Given the description of an element on the screen output the (x, y) to click on. 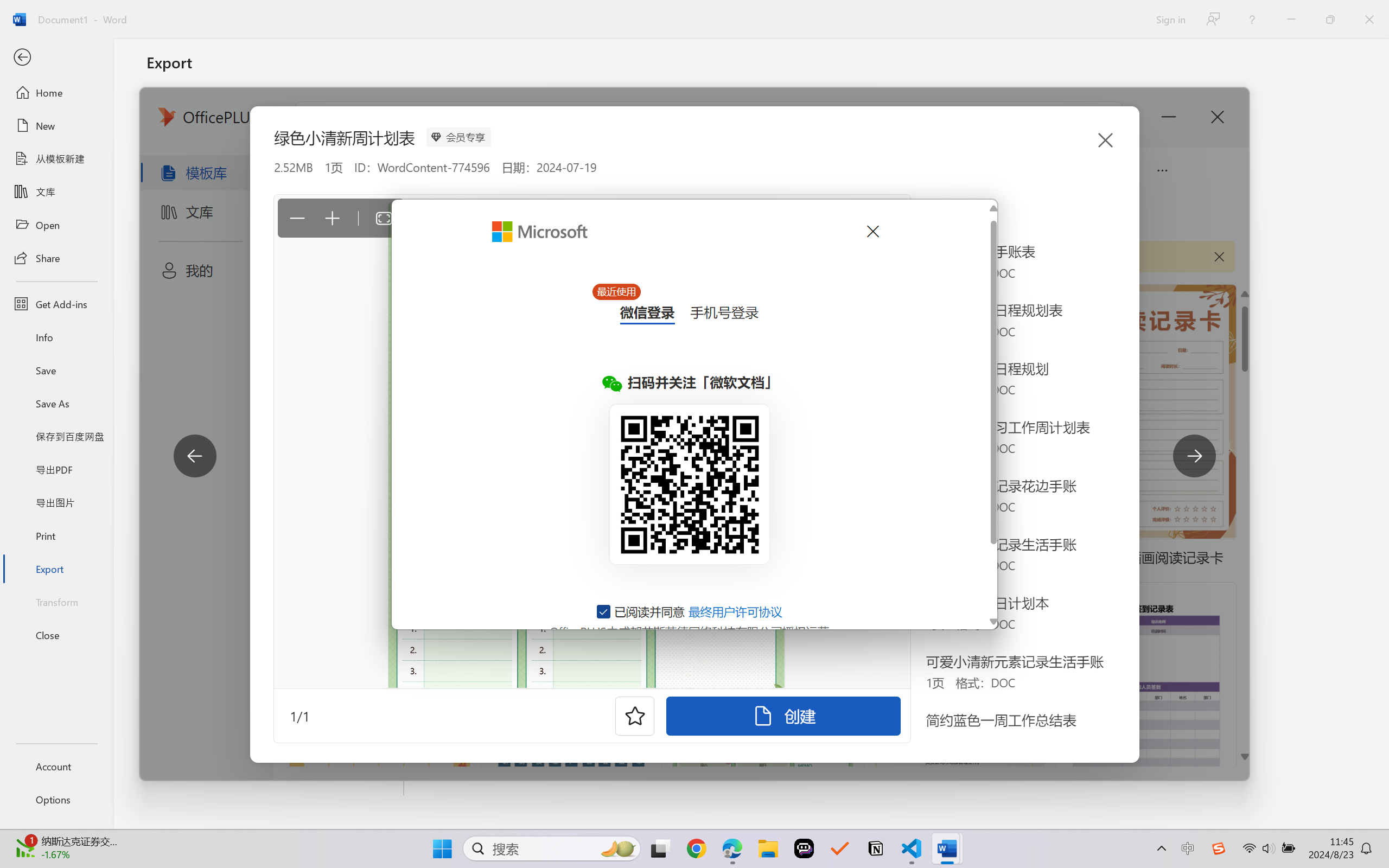
Transform (56, 601)
New (56, 125)
Cancel (872, 230)
